Given the description of an element on the screen output the (x, y) to click on. 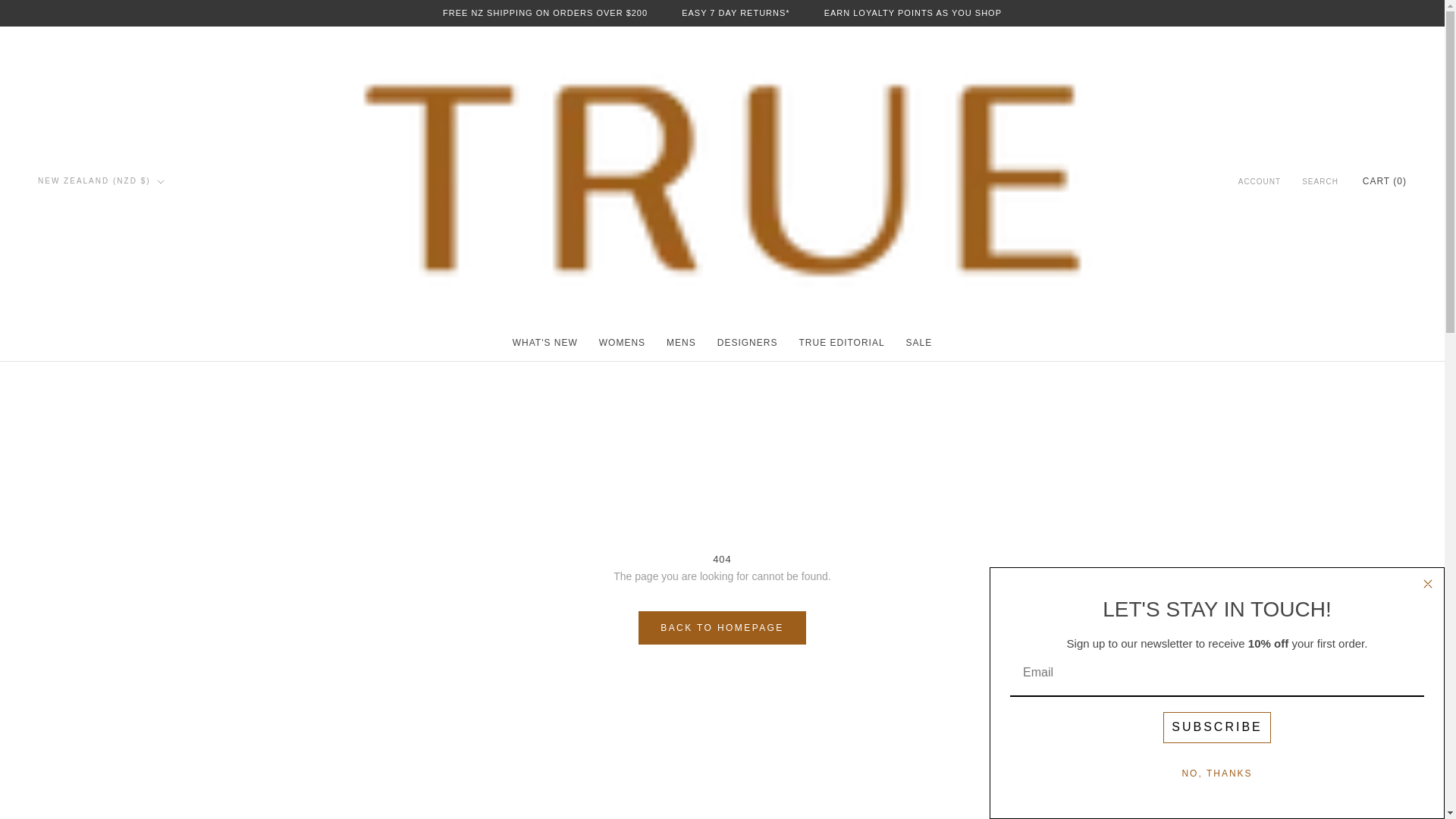
Shopify online store chat (1404, 781)
